Given the description of an element on the screen output the (x, y) to click on. 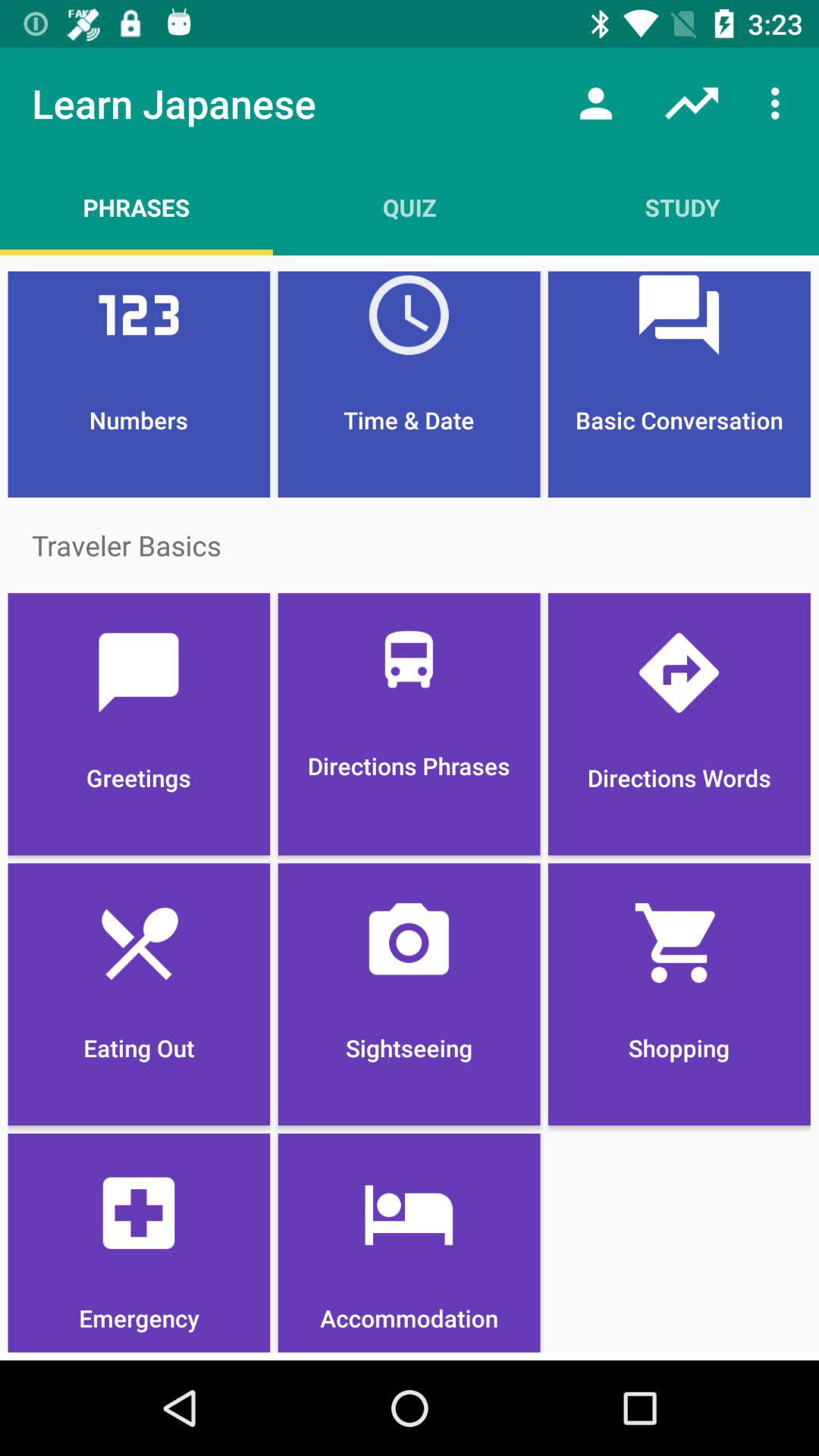
scroll until the quiz item (409, 207)
